Given the description of an element on the screen output the (x, y) to click on. 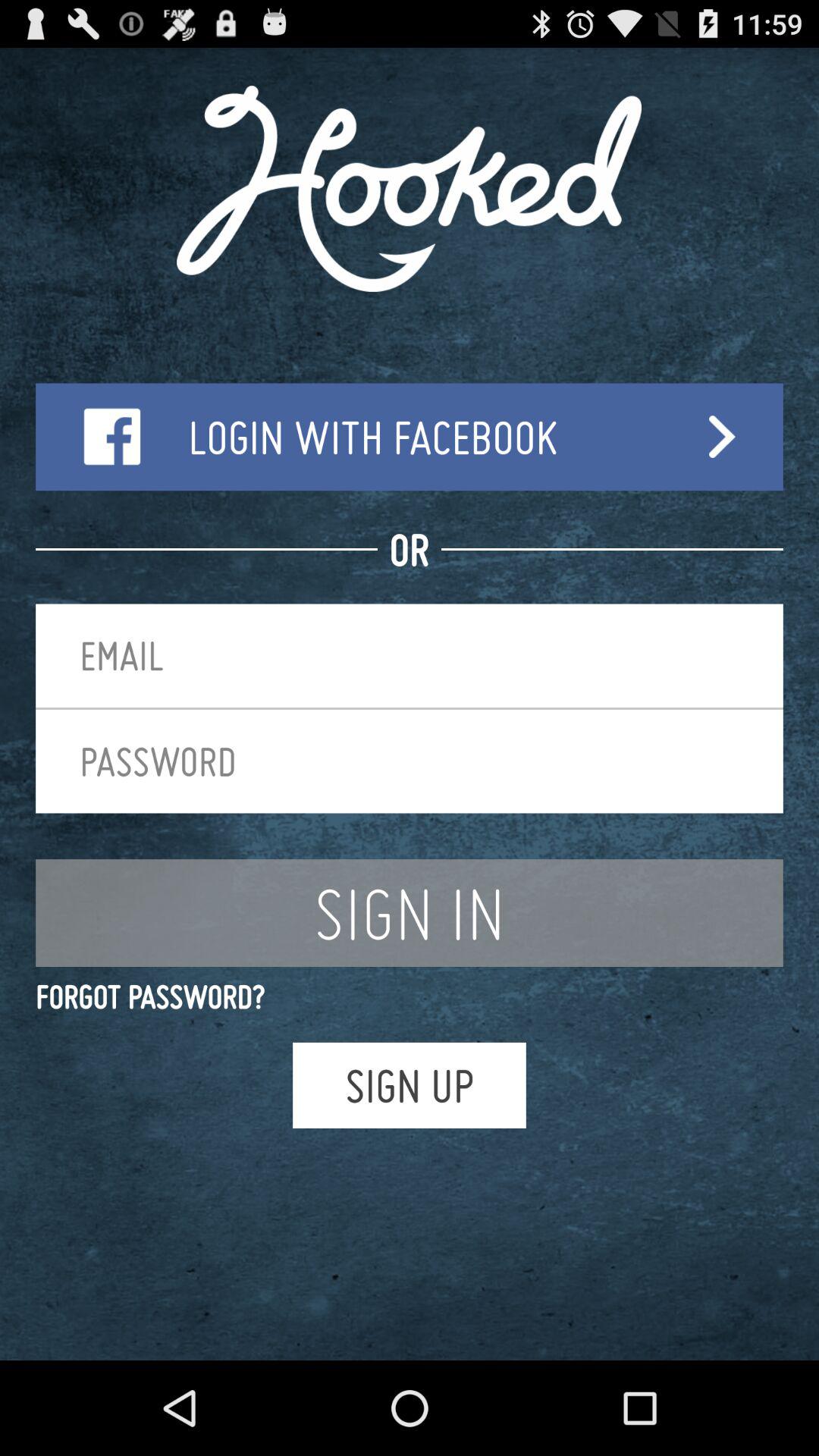
open sign in icon (409, 912)
